Given the description of an element on the screen output the (x, y) to click on. 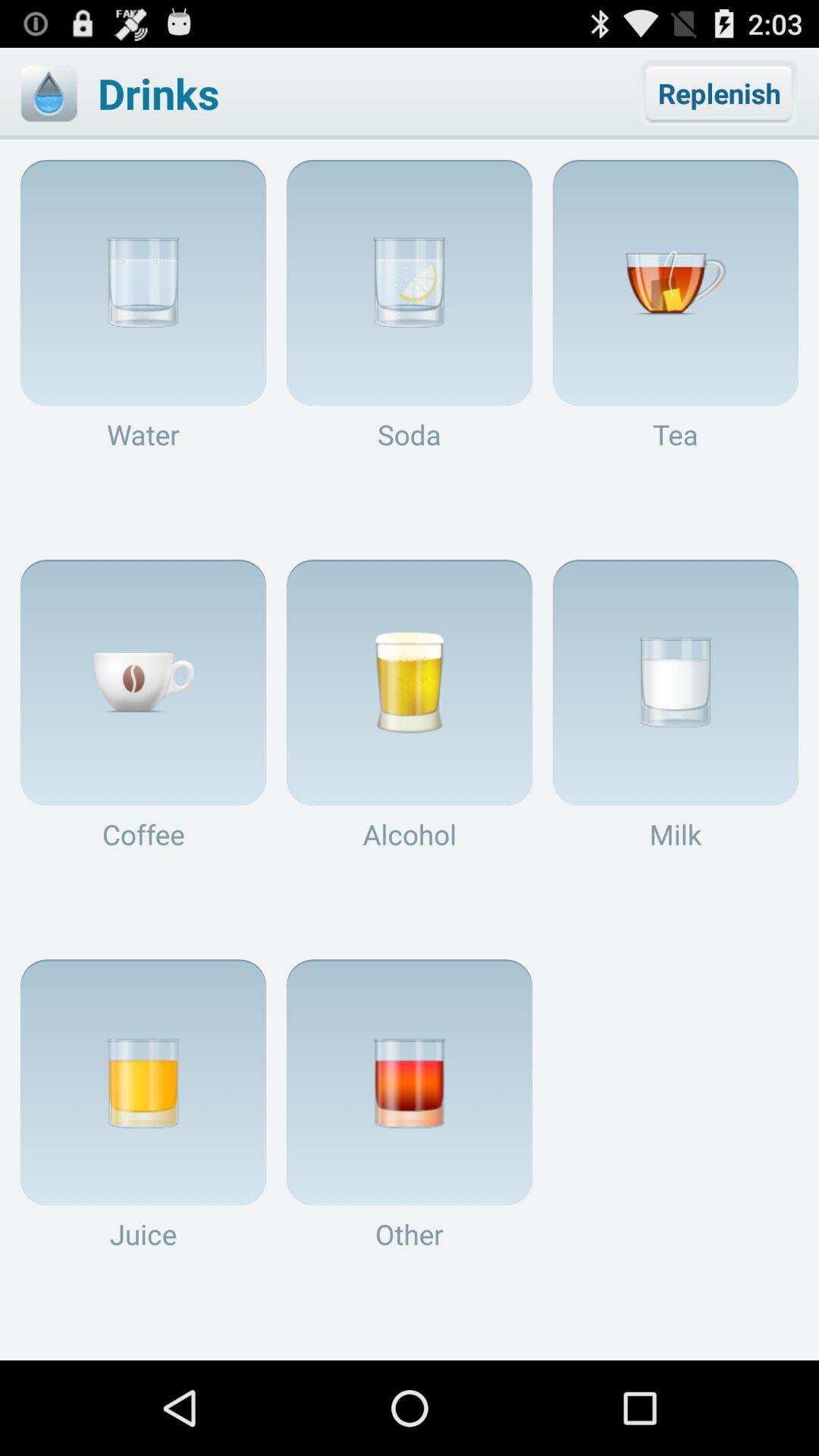
go back (48, 93)
